Given the description of an element on the screen output the (x, y) to click on. 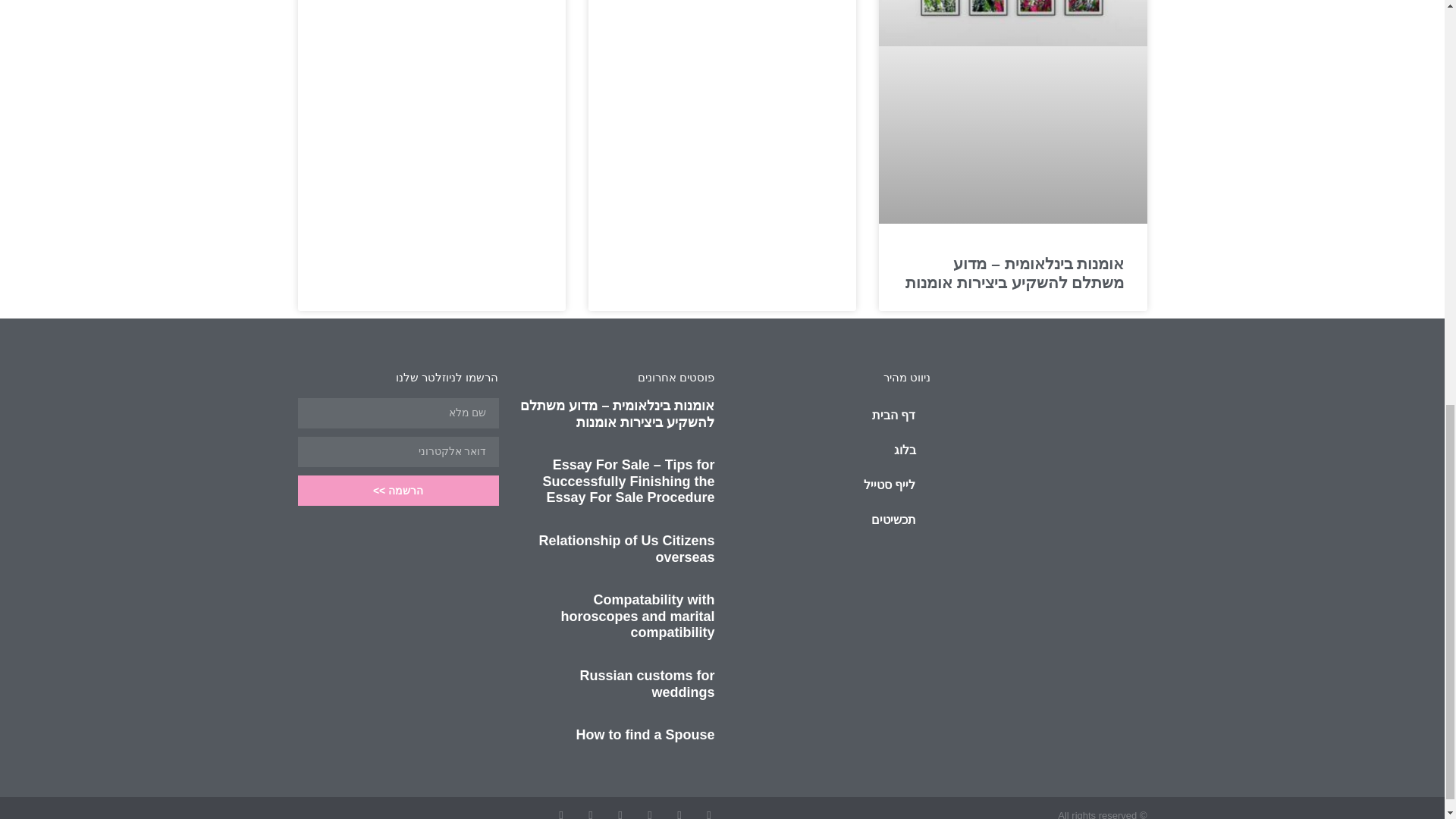
How to find a Spouse (645, 734)
Relationship of Us Citizens overseas (626, 549)
Compatability with horoscopes and marital compatibility (637, 615)
Russian customs for weddings (646, 684)
